Given the description of an element on the screen output the (x, y) to click on. 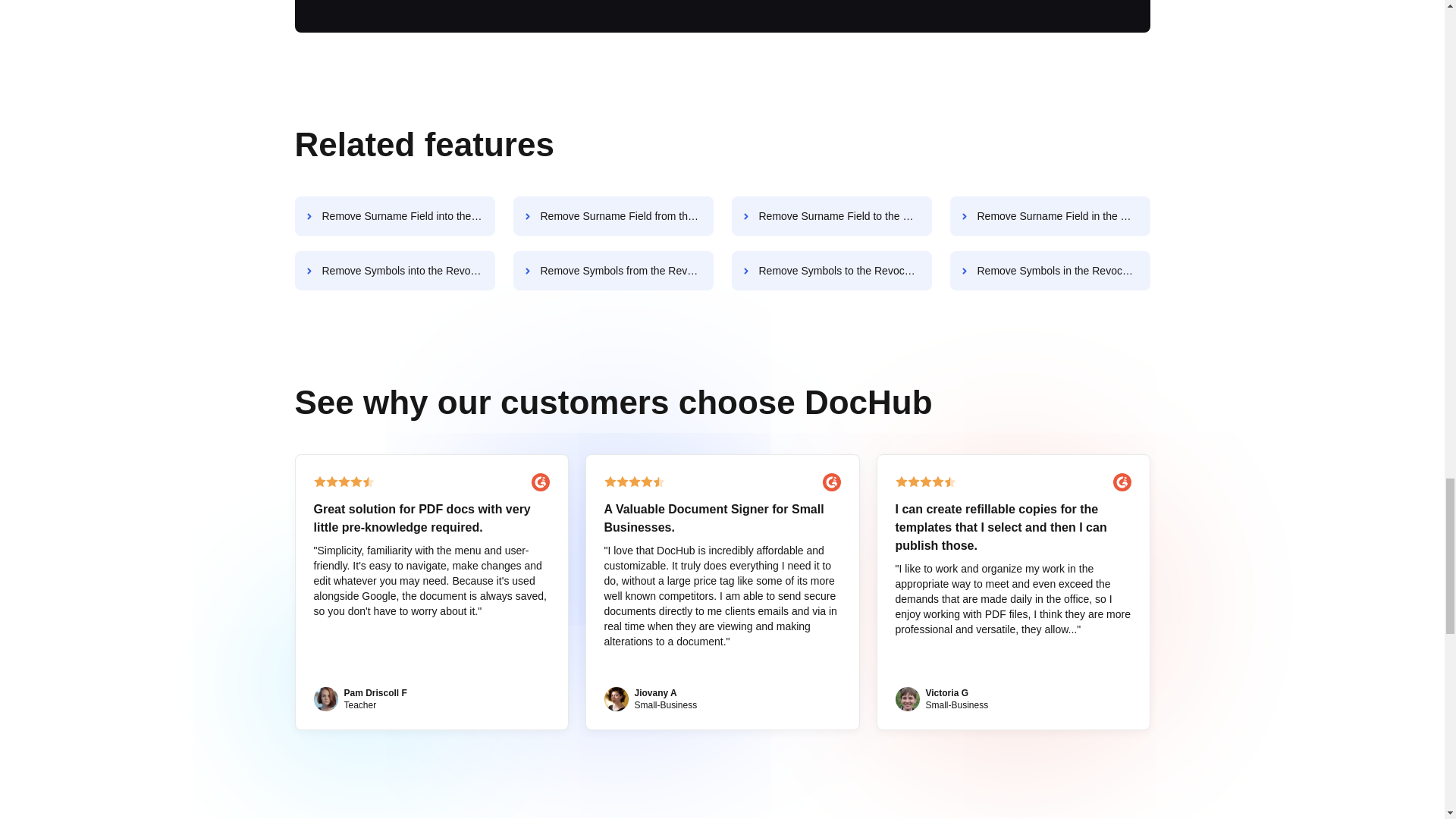
Remove Surname Field from the Revocable Living Trust (612, 215)
Remove Symbols from the Revocable Living Trust (612, 270)
Remove Surname Field into the Revocable Living Trust (394, 215)
Remove Surname Field in the Revocable Living Trust (1049, 215)
Remove Symbols in the Revocable Living Trust (1049, 270)
Remove Symbols to the Revocable Living Trust (830, 270)
Remove Surname Field to the Revocable Living Trust (830, 215)
Remove Symbols into the Revocable Living Trust (394, 270)
